Given the description of an element on the screen output the (x, y) to click on. 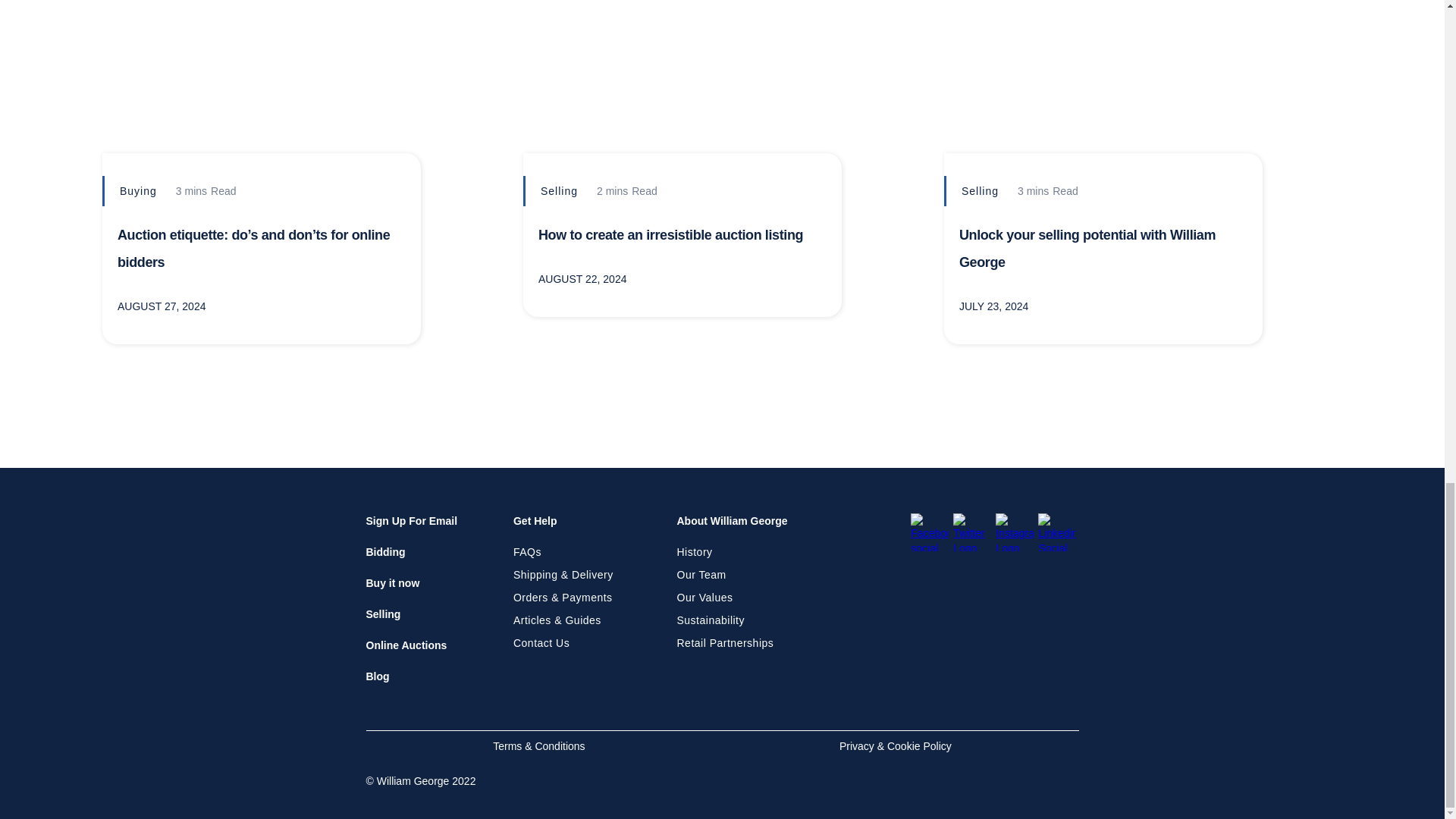
Get Help (535, 528)
Selling (382, 622)
FAQs (562, 551)
Online Auctions (405, 653)
Sign Up For Email (411, 528)
Contact Us (562, 642)
